Given the description of an element on the screen output the (x, y) to click on. 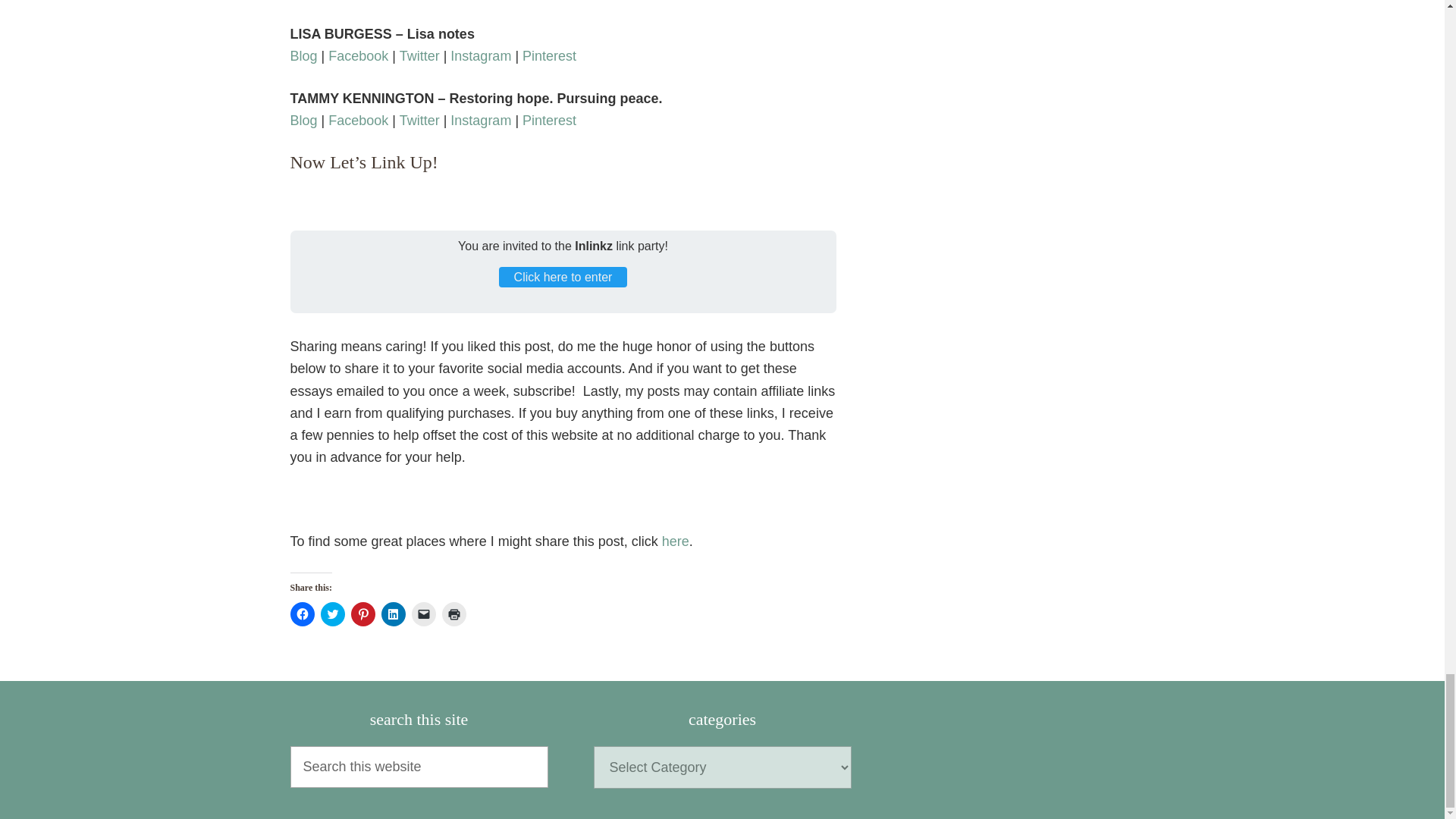
Click to share on Pinterest (362, 613)
Click to share on Twitter (331, 613)
Click to share on LinkedIn (392, 613)
Blog (303, 55)
Click to share on Facebook (301, 613)
Click to email a link to a friend (422, 613)
Click to print (453, 613)
